Given the description of an element on the screen output the (x, y) to click on. 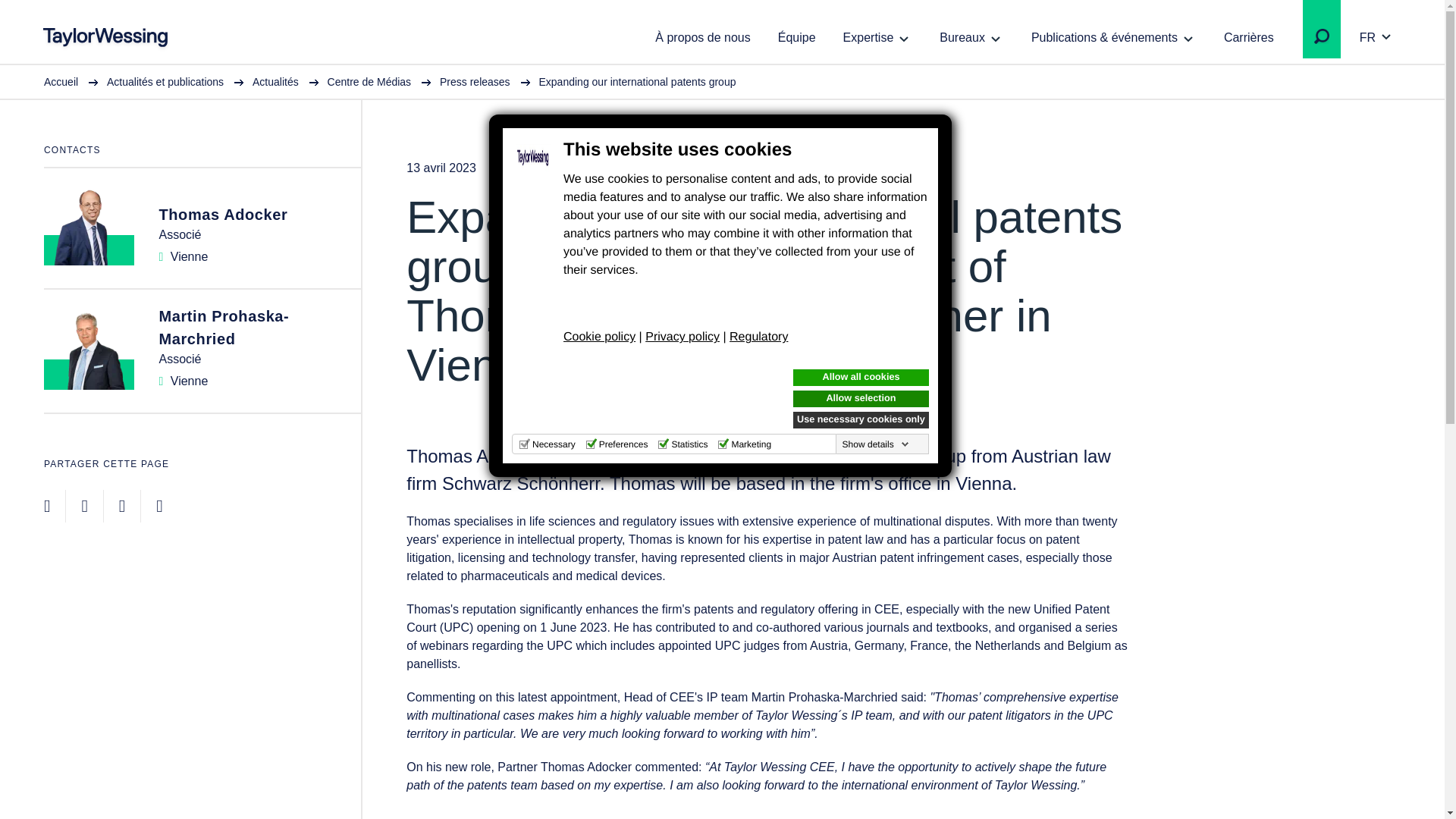
Cookie policy (598, 336)
Regulatory (758, 336)
Privacy policy (682, 336)
Allow selection (860, 398)
Allow all cookies (860, 377)
View regulatory information (758, 336)
